Given the description of an element on the screen output the (x, y) to click on. 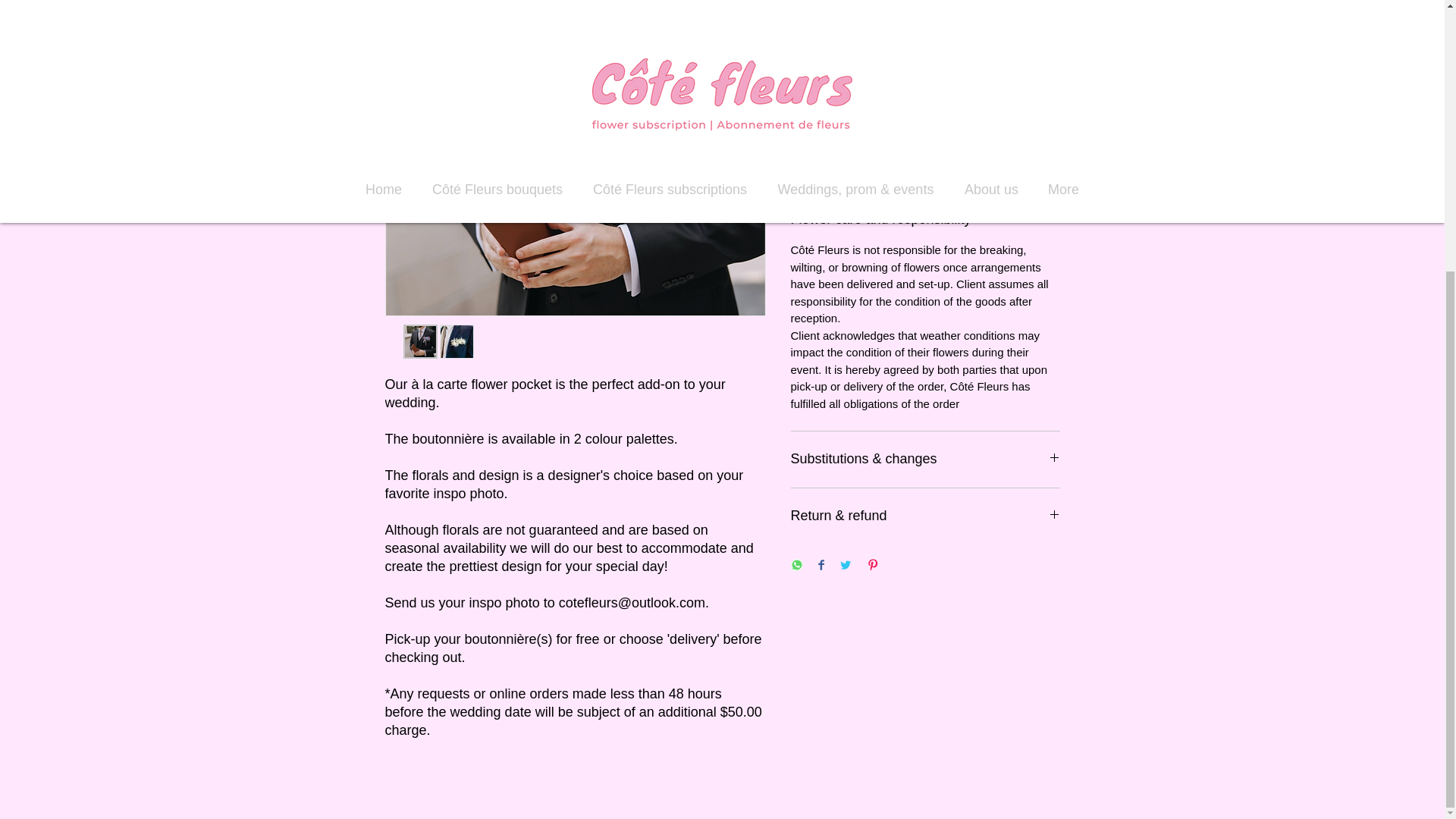
Flower care and responsibility (924, 219)
Select (924, 37)
Add to Cart (924, 158)
1 (818, 103)
